Given the description of an element on the screen output the (x, y) to click on. 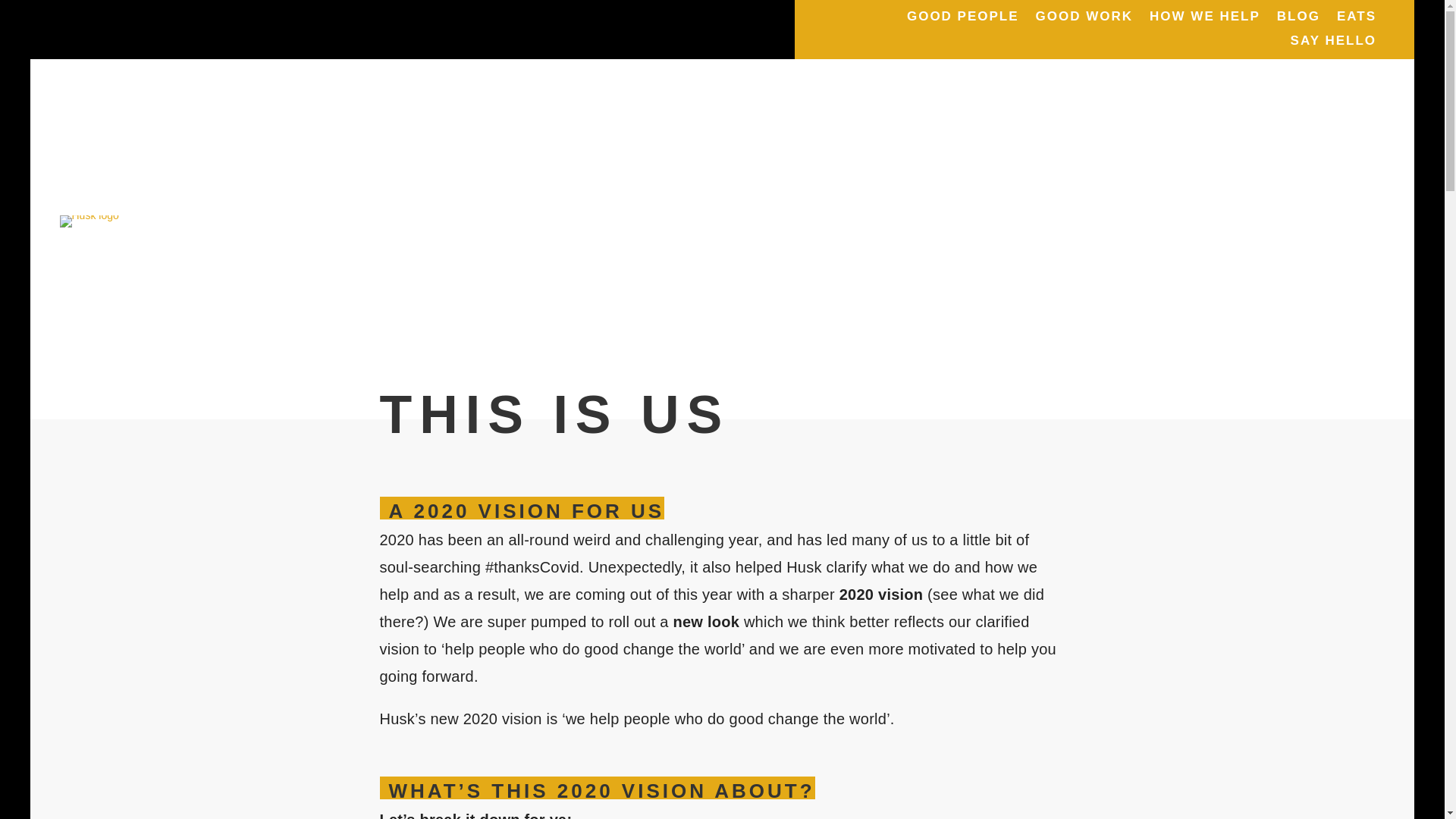
EATS (1355, 25)
BLOG (1298, 25)
SAY HELLO (1332, 49)
GOOD WORK (1084, 25)
GOOD PEOPLE (963, 25)
HOW WE HELP (1205, 25)
